Given the description of an element on the screen output the (x, y) to click on. 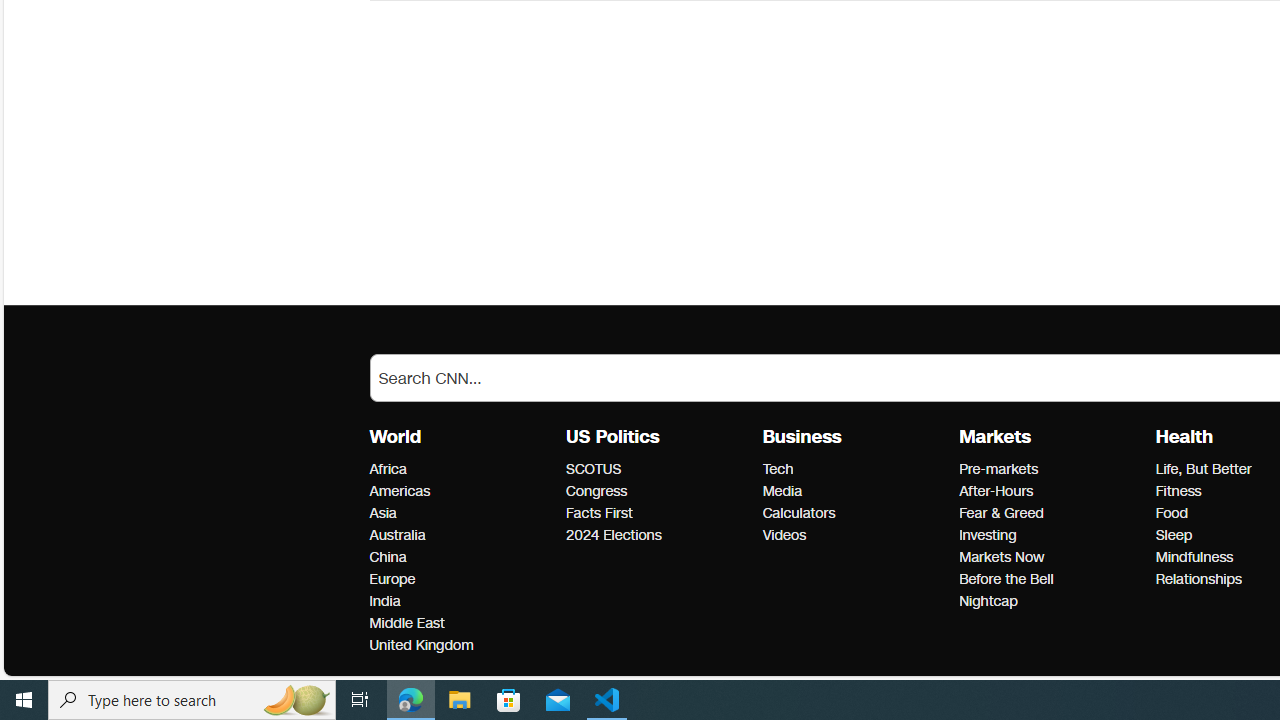
World (395, 437)
Media (854, 492)
2024 Elections (658, 536)
Investing (1051, 536)
US PoliticsSCOTUSCongressFacts First2024 Elections (663, 485)
Health Relationships (1198, 579)
Videos (854, 536)
Markets (994, 437)
Health Sleep (1173, 535)
Congress (658, 492)
Health Fitness (1177, 491)
World Middle East (406, 623)
Tech (854, 469)
Africa (461, 469)
Markets Before the Bell (1005, 579)
